Given the description of an element on the screen output the (x, y) to click on. 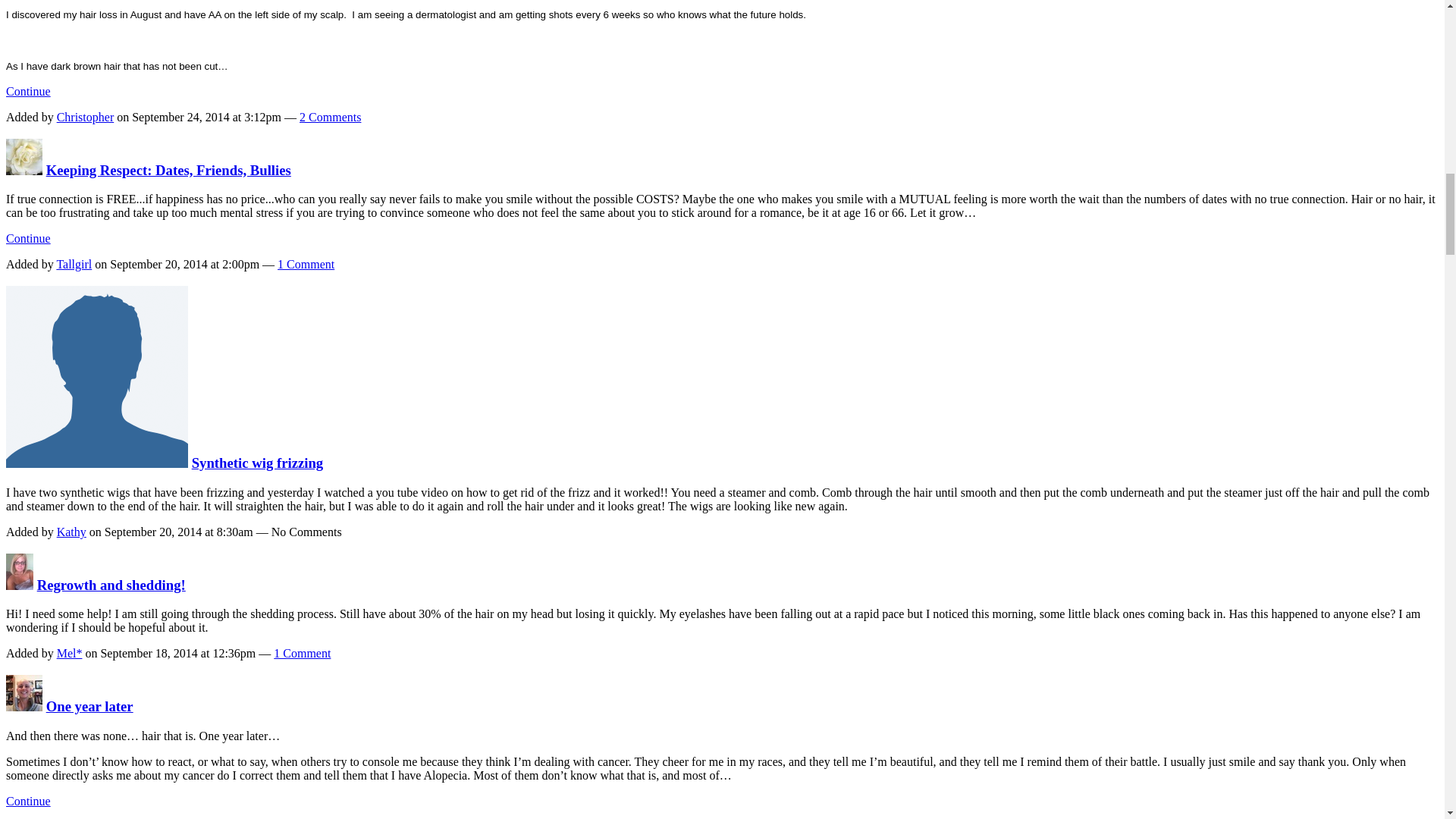
Christopher (85, 116)
Tallgirl (23, 170)
Jennifer (23, 706)
Continue (27, 91)
Kathy (96, 462)
